Given the description of an element on the screen output the (x, y) to click on. 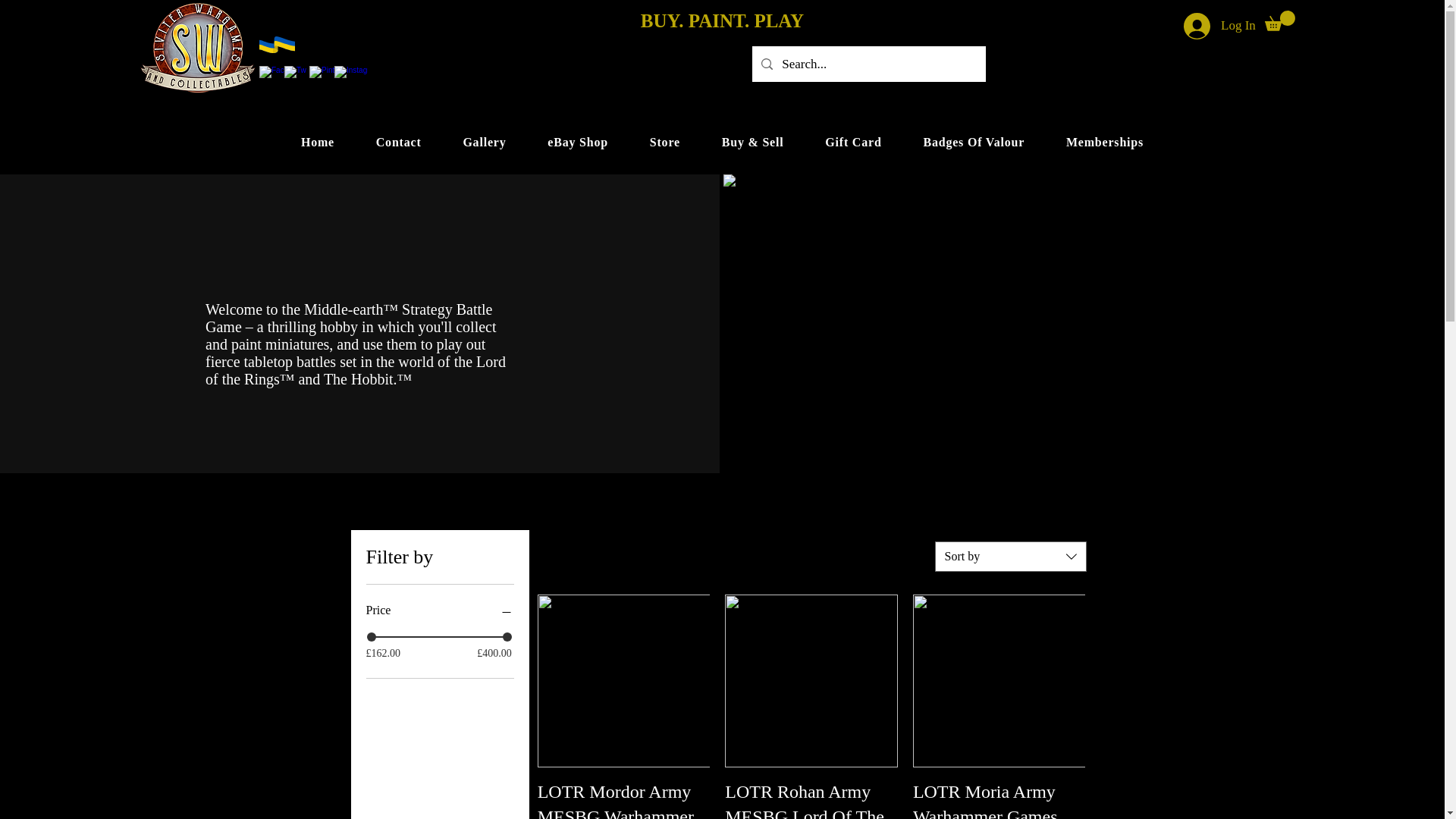
eBay Shop (577, 142)
Log In (1219, 25)
Sort by (1010, 556)
Badges Of Valour (973, 142)
Gift Card (853, 142)
Gallery (484, 142)
Store (664, 142)
Price (439, 609)
Memberships (1104, 142)
Home (317, 142)
